Given the description of an element on the screen output the (x, y) to click on. 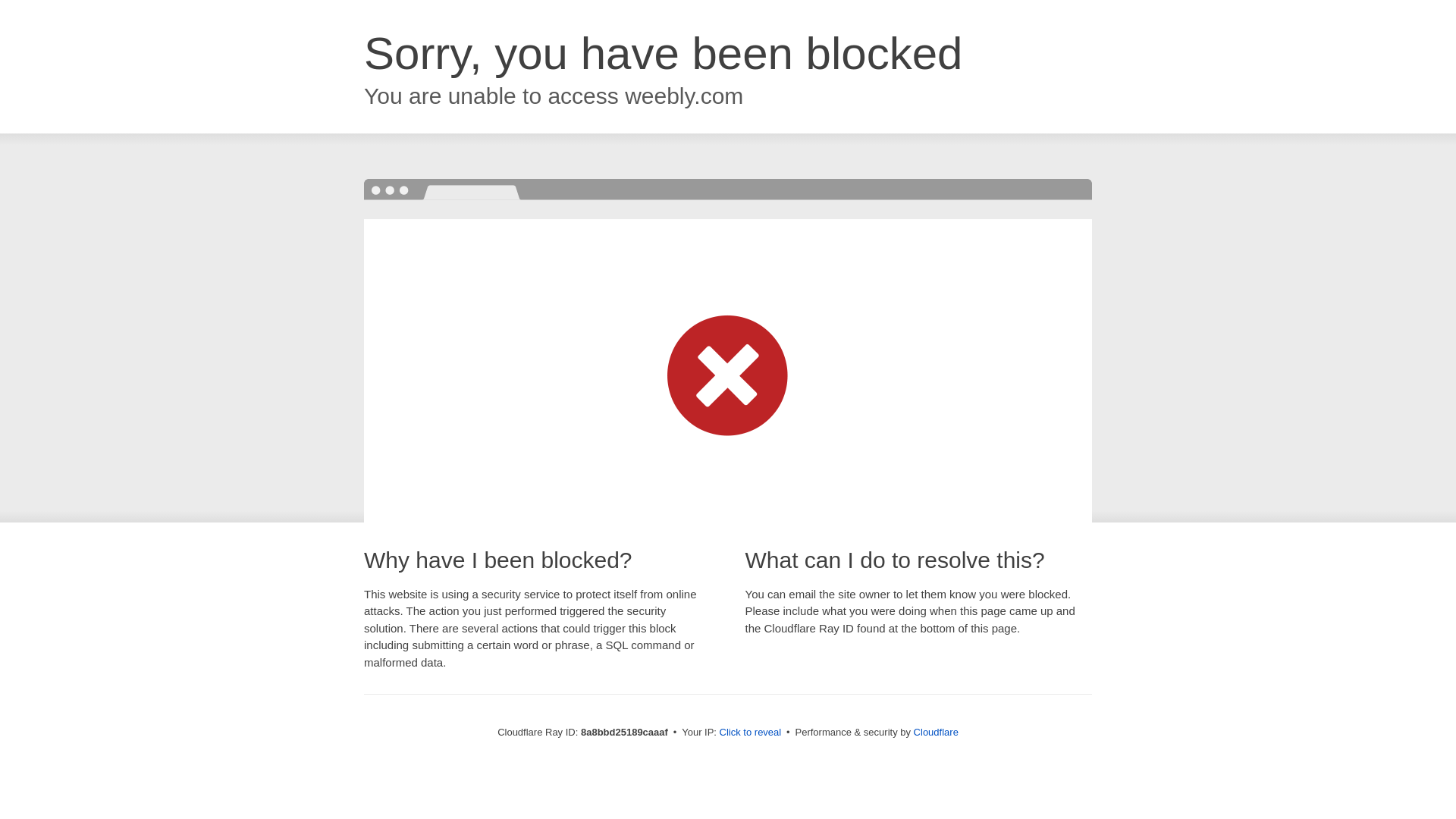
Click to reveal (750, 732)
Cloudflare (936, 731)
